Given the description of an element on the screen output the (x, y) to click on. 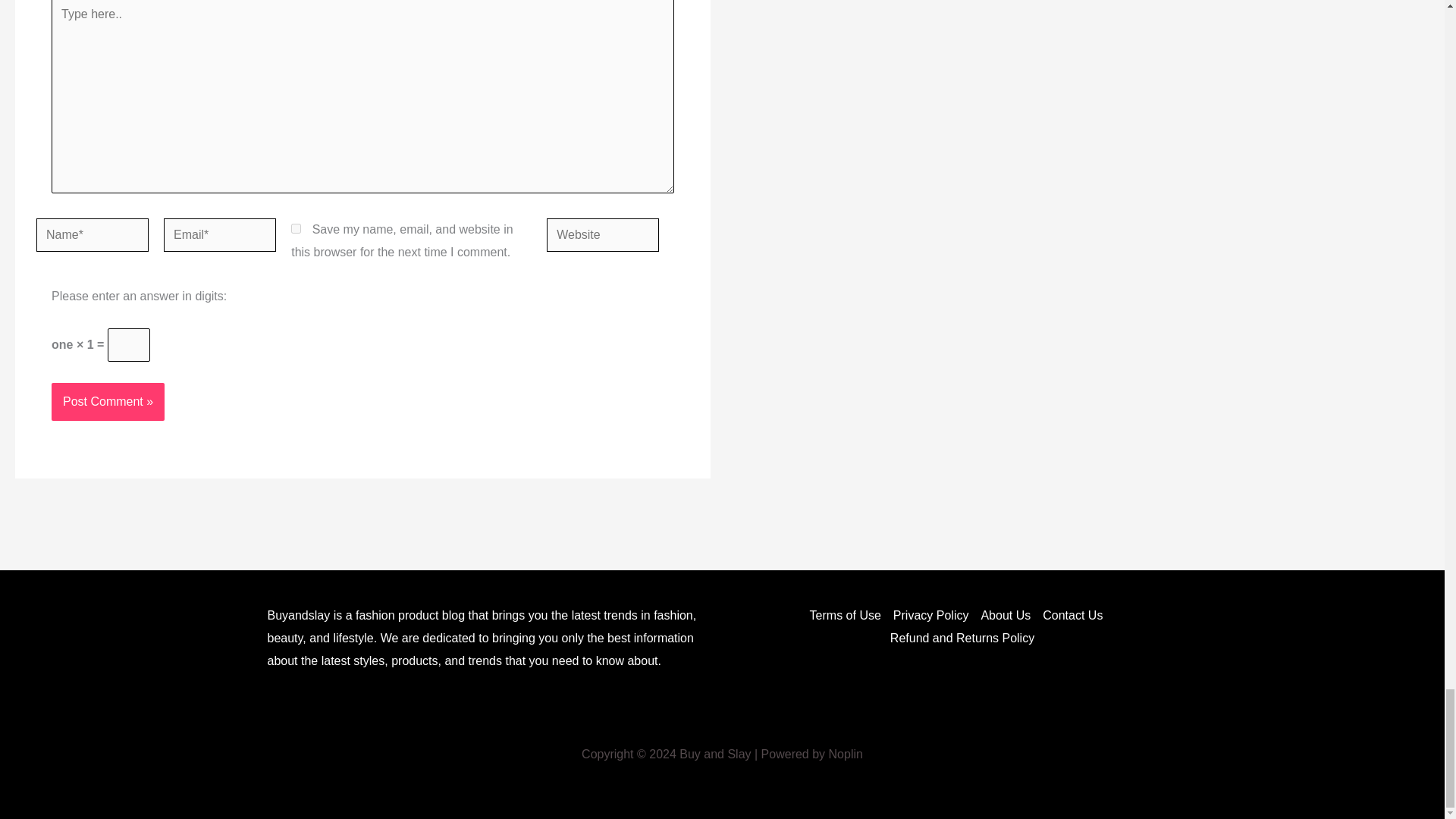
yes (296, 228)
